Given the description of an element on the screen output the (x, y) to click on. 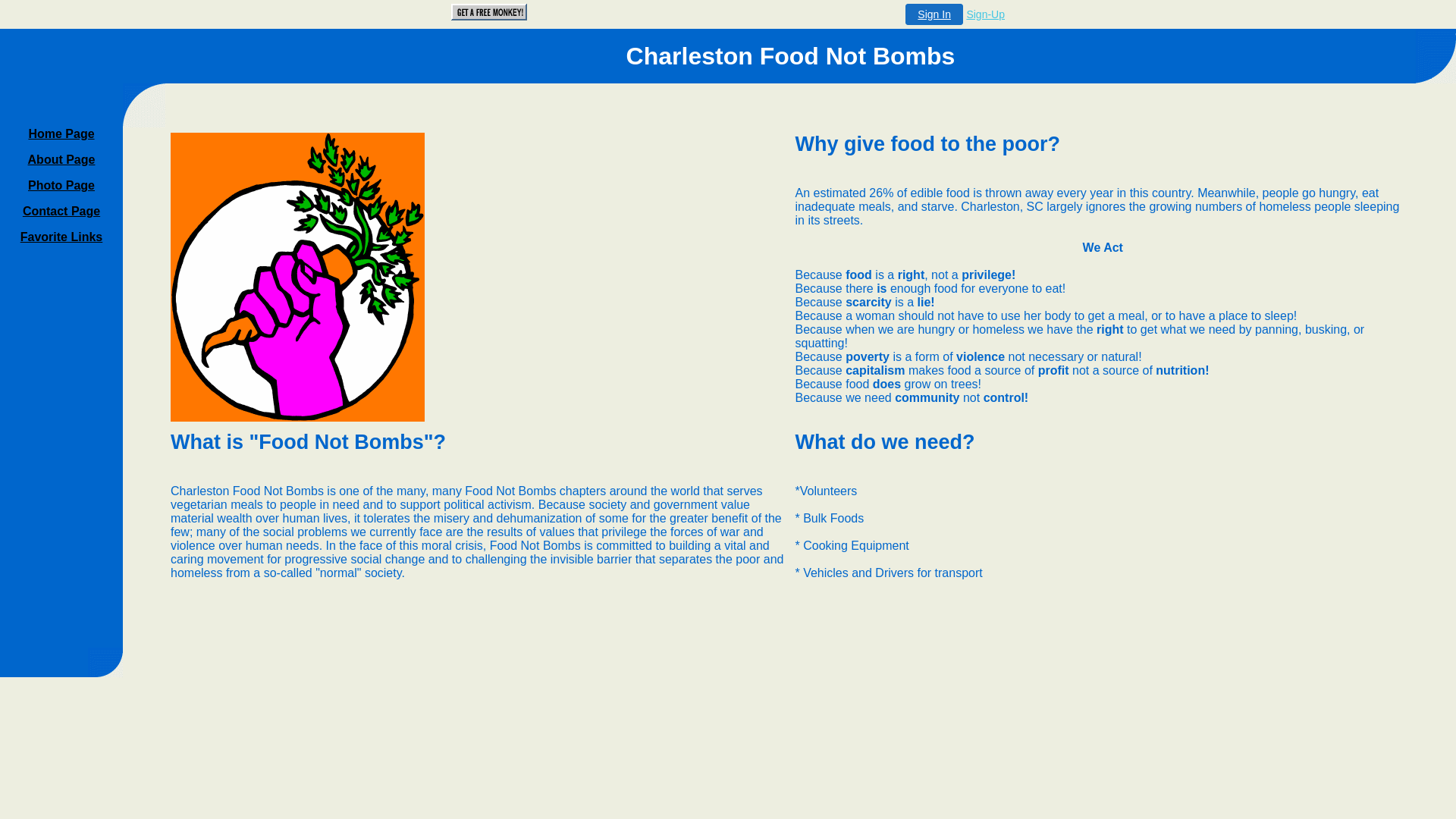
Contact Page Element type: text (61, 210)
Home Page Element type: text (61, 133)
Favorite Links Element type: text (61, 236)
About Page Element type: text (61, 159)
Sign In Element type: text (934, 14)
Photo Page Element type: text (61, 184)
Sign-Up Element type: text (985, 14)
